Given the description of an element on the screen output the (x, y) to click on. 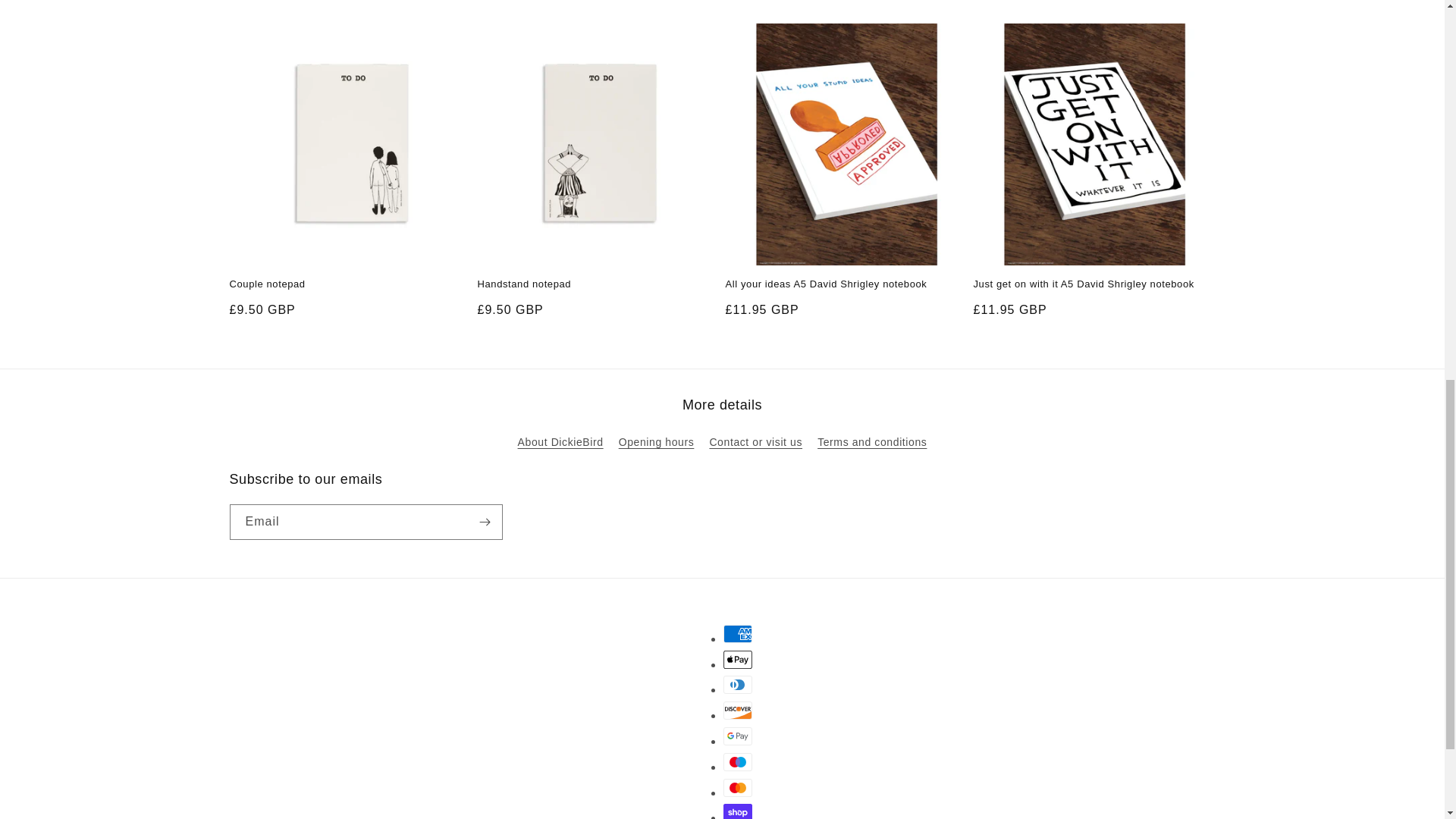
Google Pay (737, 736)
Discover (737, 710)
Apple Pay (737, 659)
Contact or visit us (755, 442)
About DickieBird (561, 444)
Diners Club (737, 684)
Terms and conditions (871, 442)
Mastercard (737, 787)
American Express (737, 633)
All your ideas A5 David Shrigley notebook (845, 284)
